Given the description of an element on the screen output the (x, y) to click on. 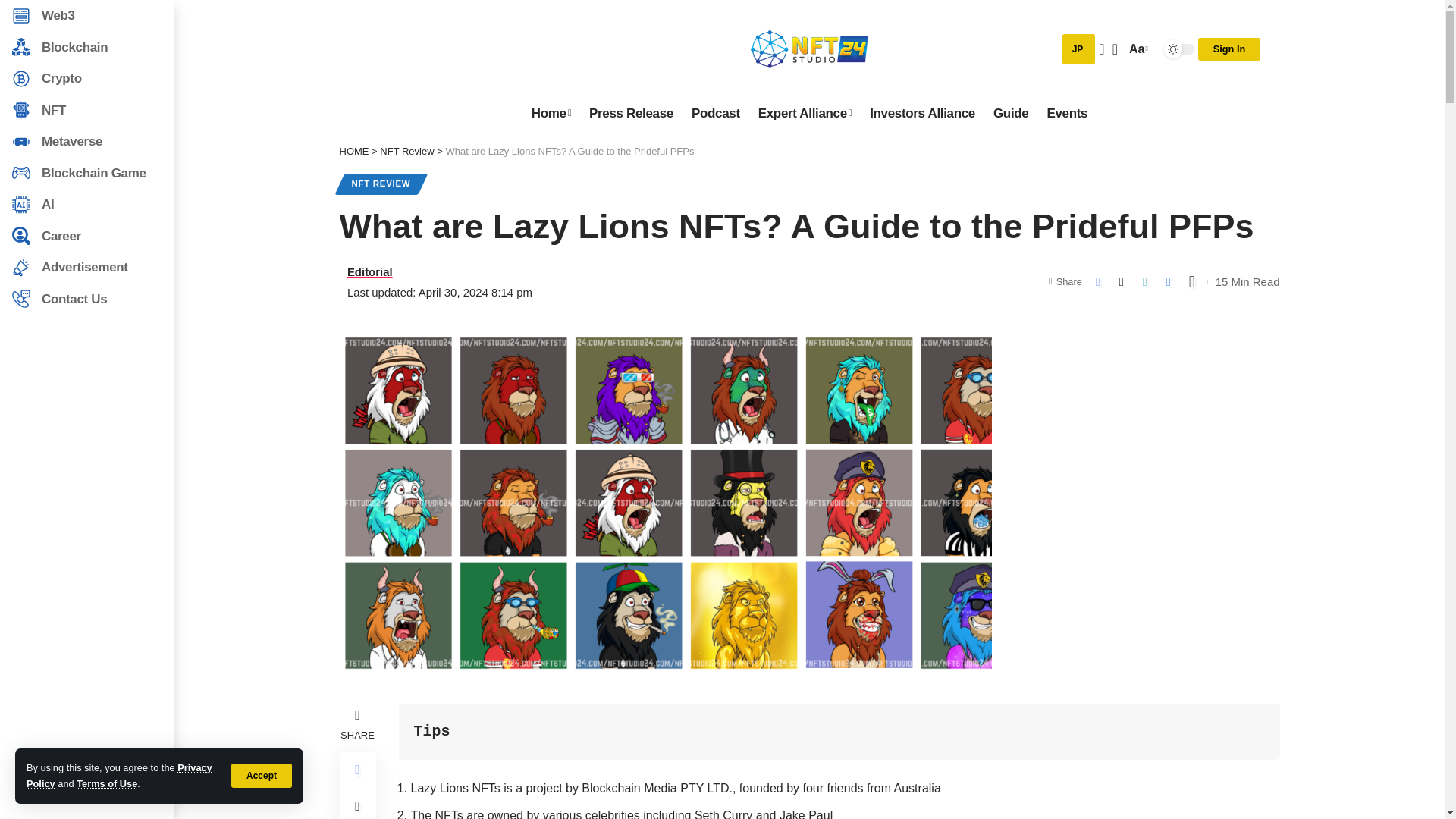
NFT Studio 24 (809, 48)
Press Release (630, 113)
Home (1136, 48)
Podcast (550, 113)
Privacy Policy (715, 113)
Guide (119, 775)
Go to the NFT Review Category archives. (1010, 113)
Sign In (406, 151)
JP (1229, 48)
